Given the description of an element on the screen output the (x, y) to click on. 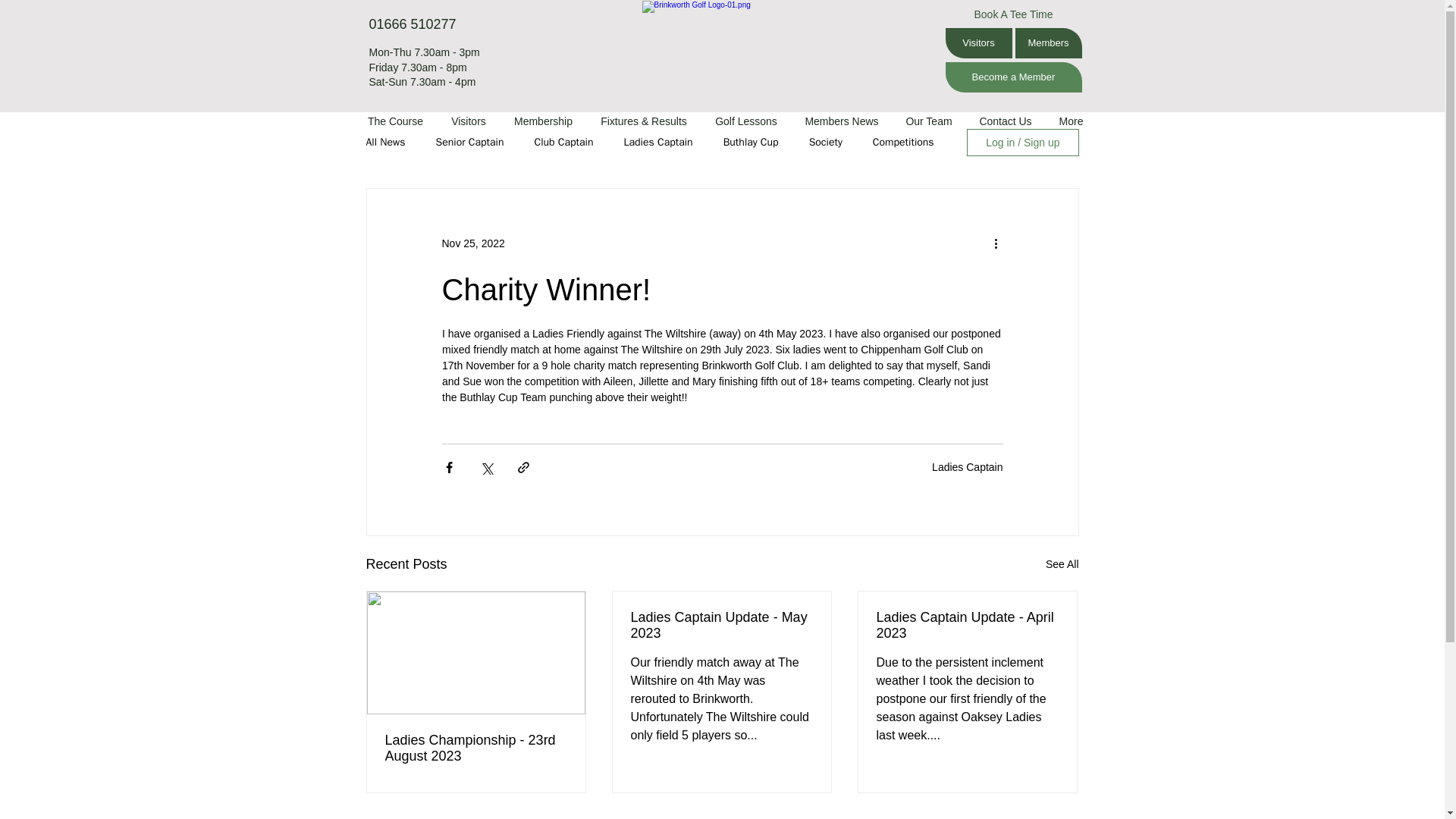
Visitors (977, 42)
Members News (842, 121)
Ladies Captain (658, 142)
Ladies Captain Update - May 2023 (721, 625)
Members (1047, 42)
Ladies Championship - 23rd August 2023 (476, 748)
The Course (394, 121)
Contact Us (1005, 121)
All News (384, 142)
Our Team (928, 121)
